Given the description of an element on the screen output the (x, y) to click on. 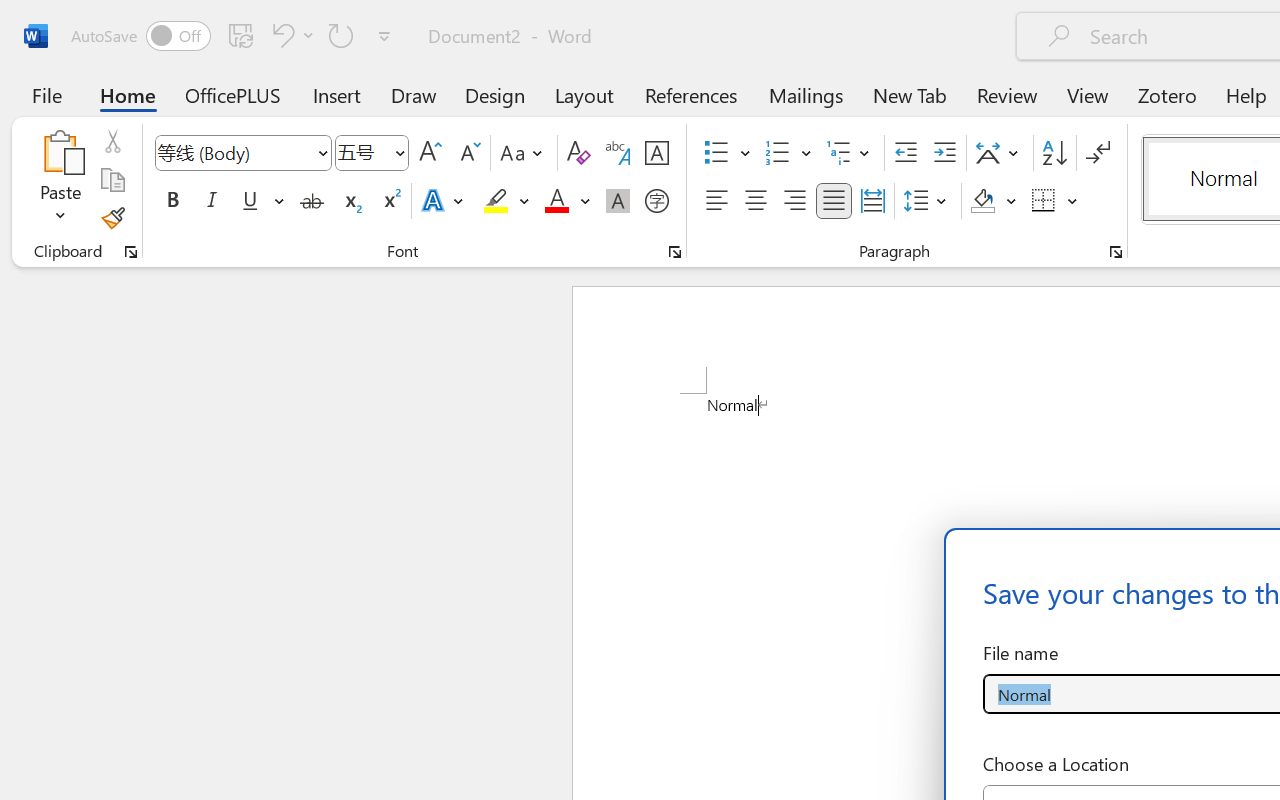
Home (127, 94)
Review (1007, 94)
Open (399, 152)
Strikethrough (312, 201)
Shading (993, 201)
Font Size (362, 152)
Paragraph... (1115, 252)
Align Right (794, 201)
Bullets (727, 153)
Numbering (778, 153)
Undo Apply Quick Style (290, 35)
Repeat Style (341, 35)
Quick Access Toolbar (233, 36)
Mailings (806, 94)
Font Color Red (556, 201)
